Given the description of an element on the screen output the (x, y) to click on. 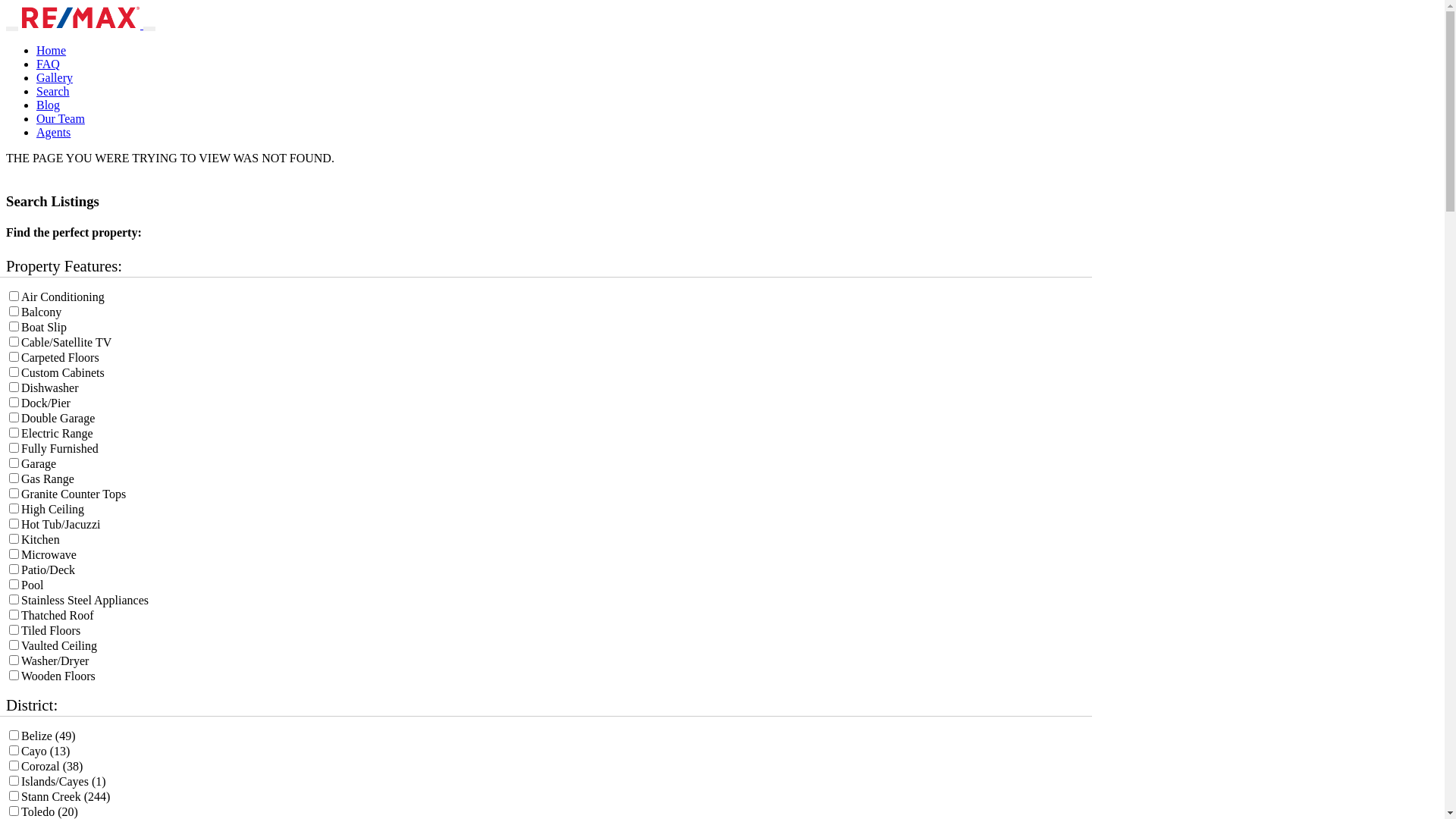
Agents Element type: text (53, 131)
Gallery Element type: text (54, 77)
Home Element type: text (50, 49)
Search Element type: text (52, 90)
Our Team Element type: text (60, 118)
FAQ Element type: text (47, 63)
Blog Element type: text (47, 104)
